Given the description of an element on the screen output the (x, y) to click on. 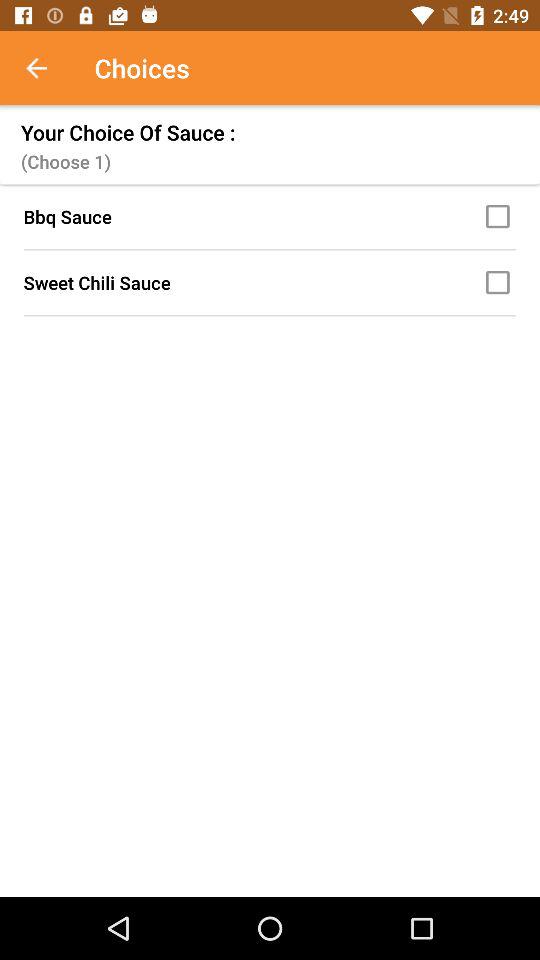
turn on item next to the choices item (47, 68)
